Given the description of an element on the screen output the (x, y) to click on. 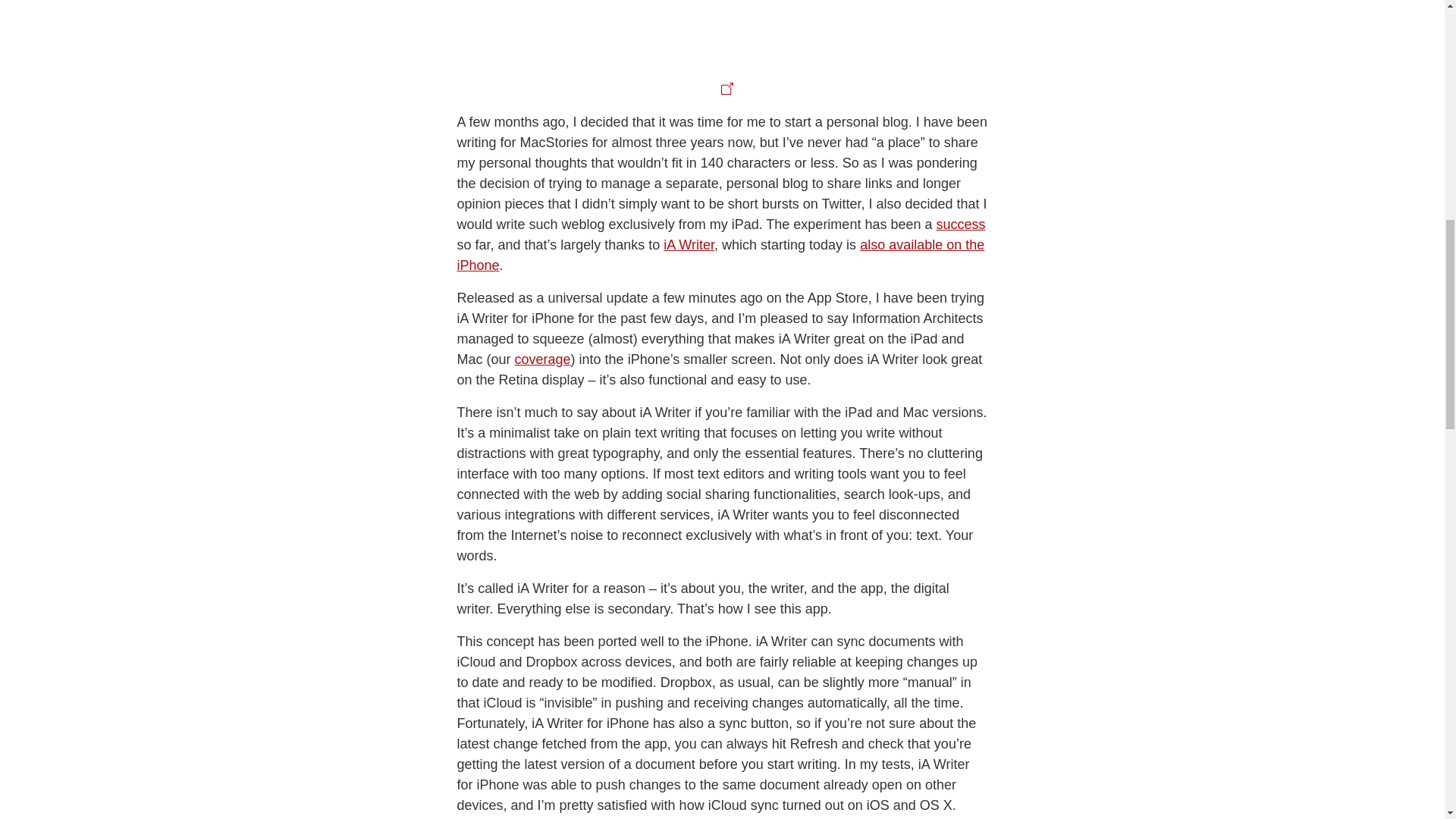
also available on the iPhone (720, 161)
iA Writer (688, 151)
coverage (542, 265)
success (960, 130)
